Given the description of an element on the screen output the (x, y) to click on. 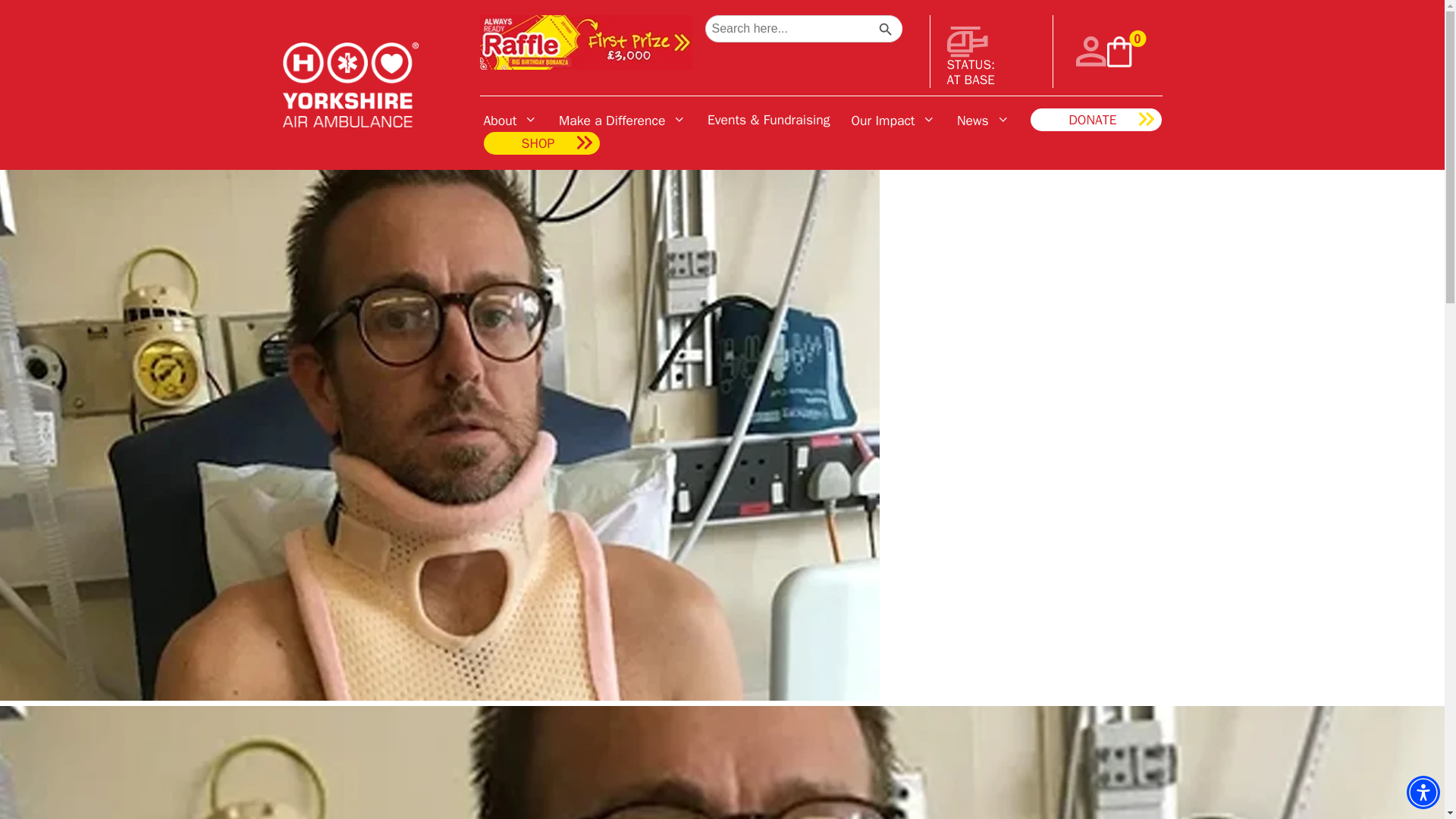
Our Impact (893, 119)
SEARCH BUTTON (885, 30)
News (982, 119)
raffle-header-badge (585, 42)
Accessibility Menu (1422, 792)
SHOP (541, 142)
Make a Difference (622, 119)
DONATE (1095, 119)
Helicopter status (966, 41)
About (510, 119)
My Account link (1090, 51)
